Given the description of an element on the screen output the (x, y) to click on. 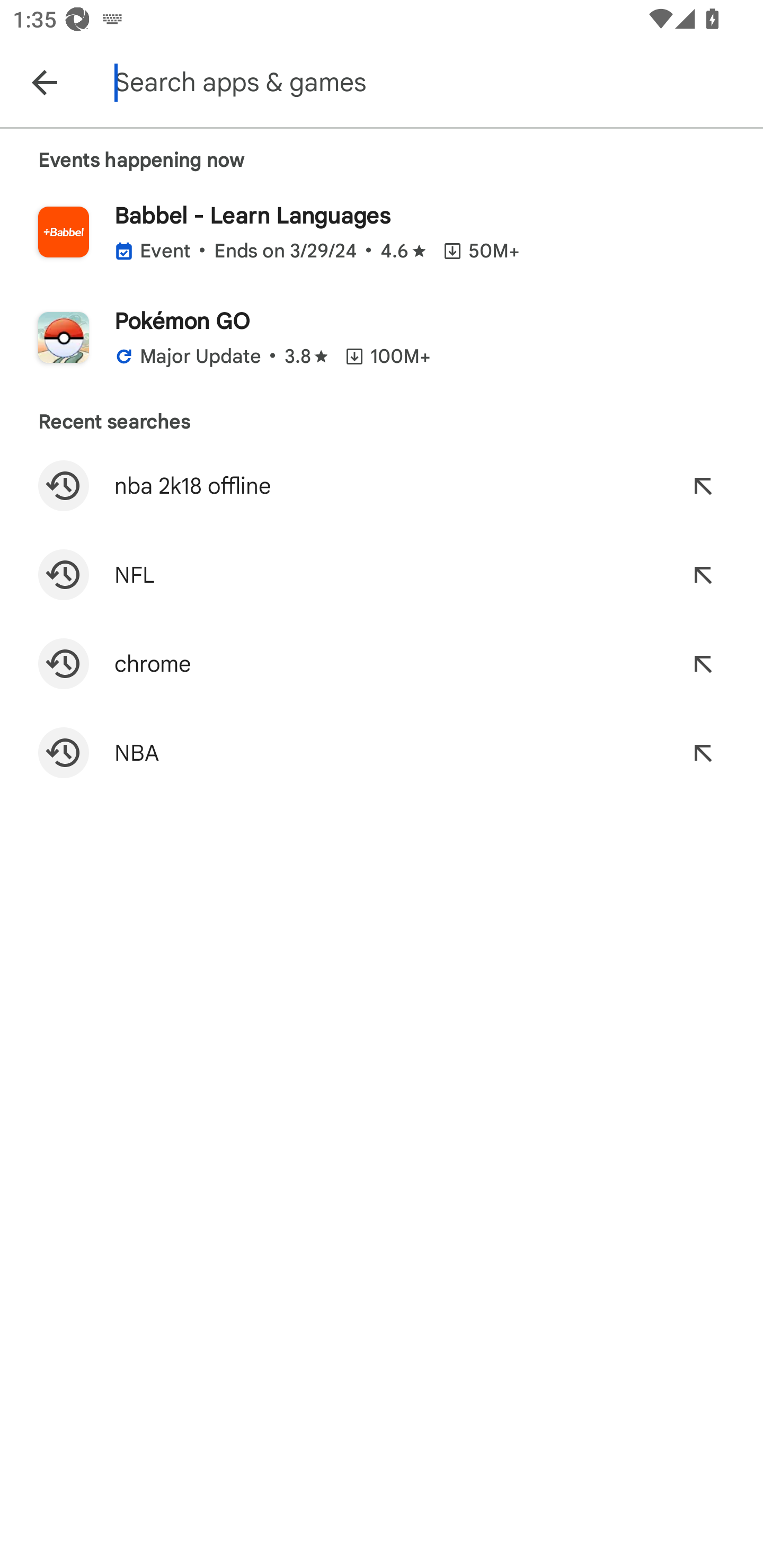
Navigate up (44, 81)
Search apps & games (435, 81)
Refine search to "nba 2k18 offline" (702, 484)
Search for "NFL"  Refine search to "NFL" (381, 574)
Refine search to "NFL" (702, 574)
Search for "chrome"  Refine search to "chrome" (381, 663)
Refine search to "chrome" (702, 663)
Search for "NBA"  Refine search to "NBA" (381, 752)
Refine search to "NBA" (702, 752)
